Given the description of an element on the screen output the (x, y) to click on. 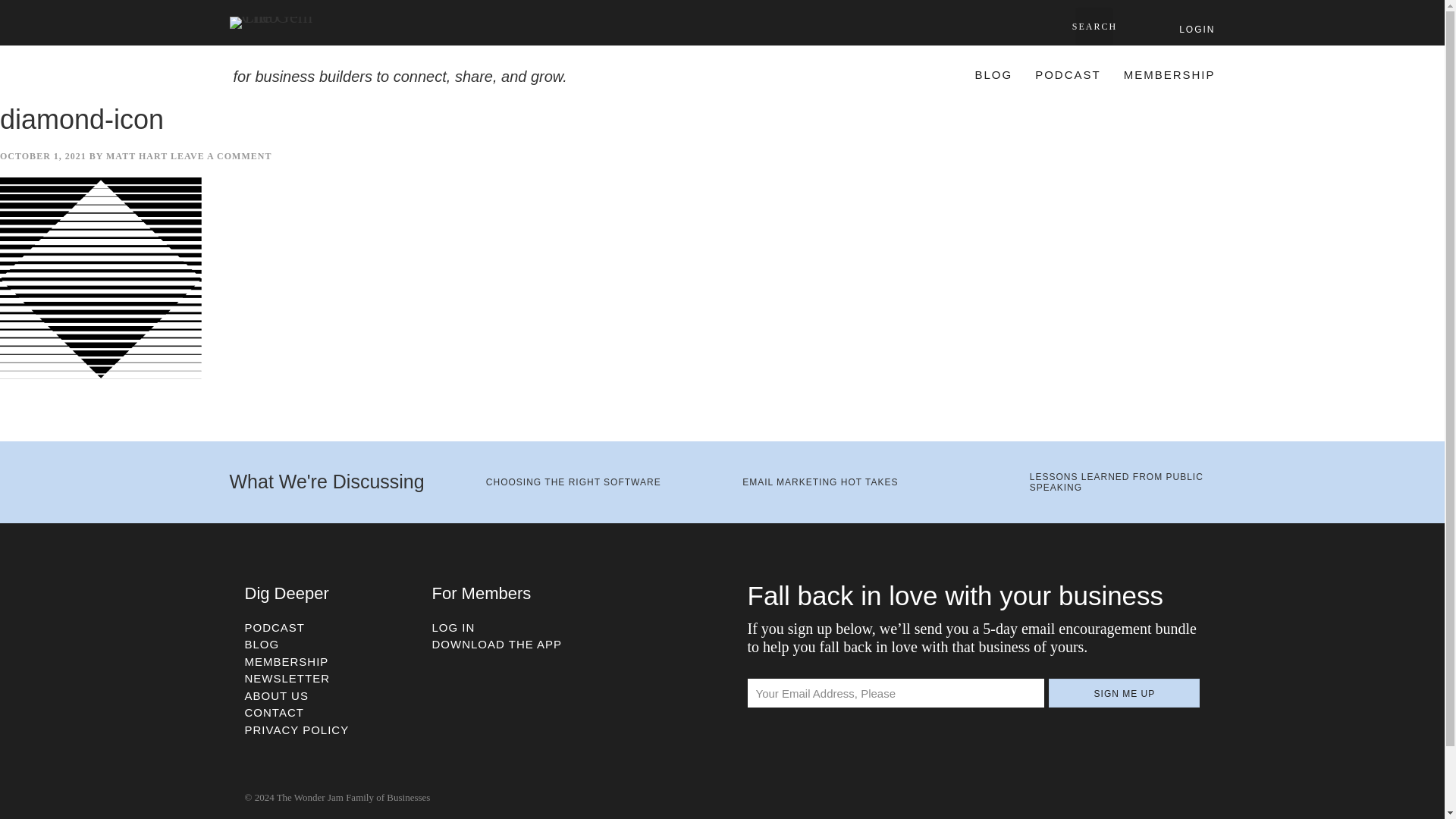
BLOG (993, 73)
MATT HART (136, 155)
LEAVE A COMMENT (220, 155)
CONTACT (273, 712)
PODCAST (1067, 73)
MEMBERSHIP (286, 661)
LOGIN (1196, 29)
NEWSLETTER (287, 677)
PODCAST (274, 626)
PRIVACY POLICY (296, 729)
DOWNLOAD THE APP (497, 644)
SIGN ME UP (1123, 692)
The Gem Club (279, 22)
LOG IN (454, 626)
ABOUT US (275, 695)
